Given the description of an element on the screen output the (x, y) to click on. 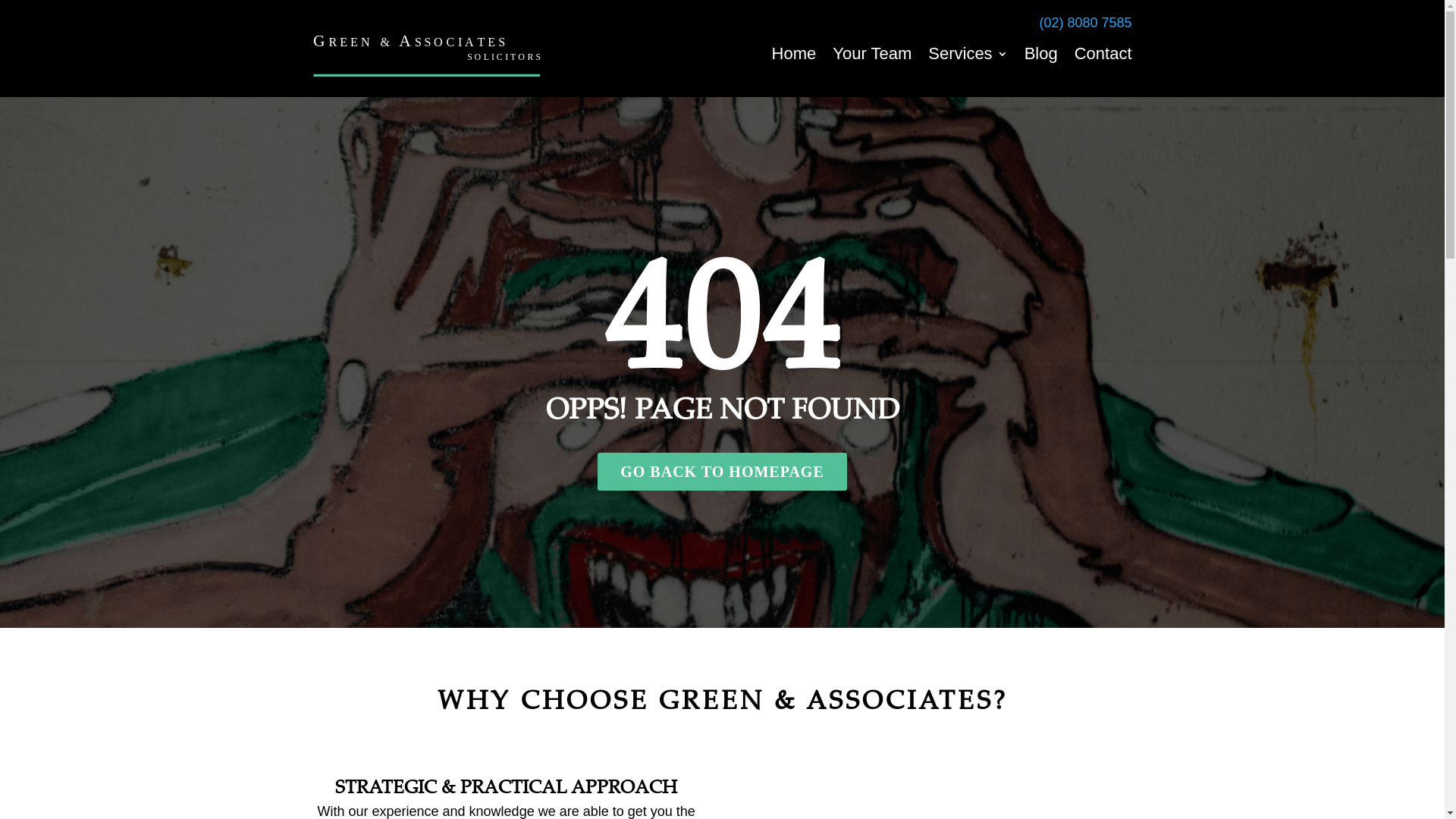
Services Element type: text (967, 53)
(02) 8080 7585 Element type: text (1084, 22)
Blog Element type: text (1040, 53)
Your Team Element type: text (871, 53)
GO BACK TO HOMEPAGE Element type: text (721, 471)
Home Element type: text (793, 53)
Contact Element type: text (1103, 53)
